Given the description of an element on the screen output the (x, y) to click on. 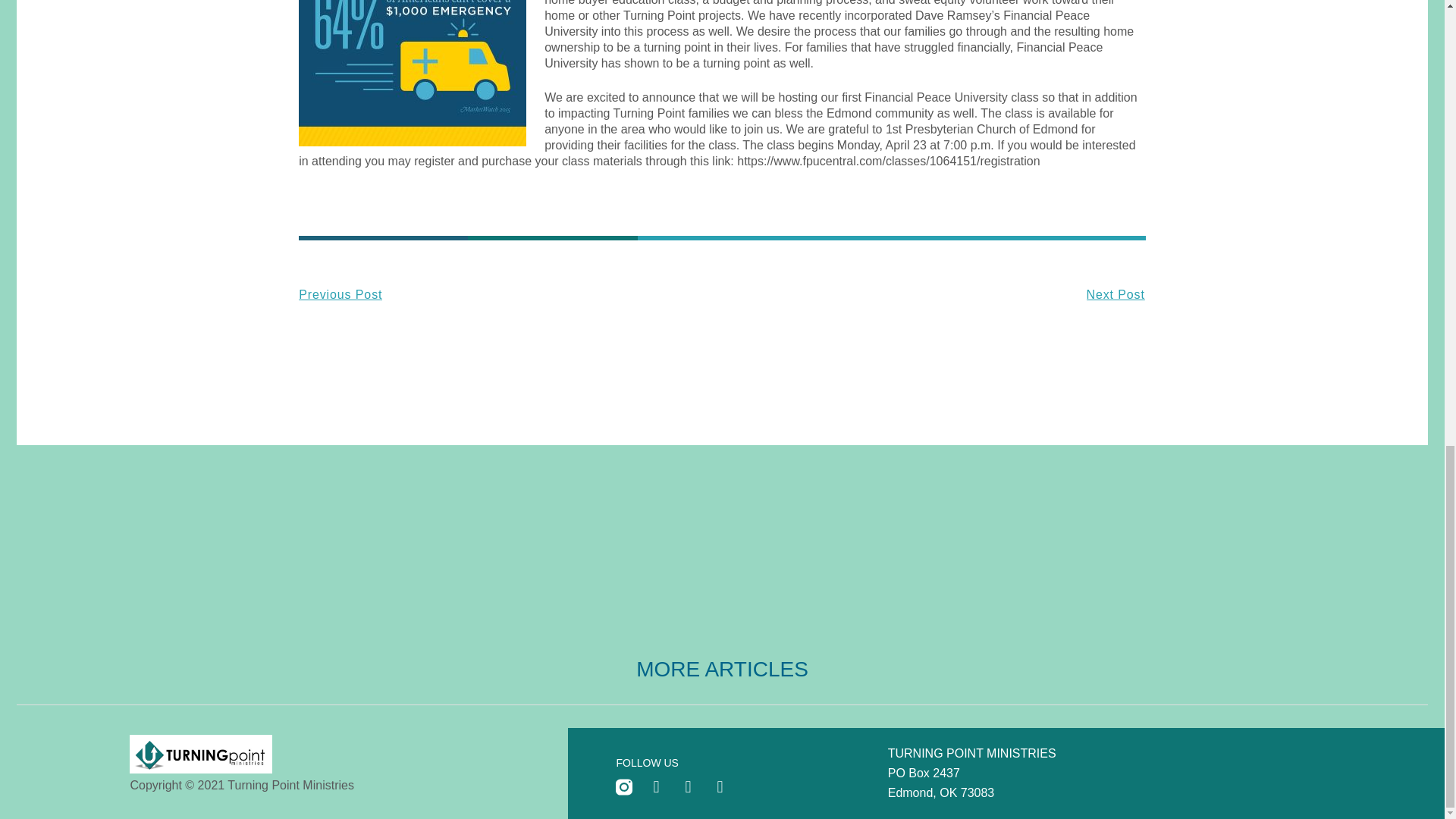
Previous Post (510, 294)
Next Post (933, 294)
